Given the description of an element on the screen output the (x, y) to click on. 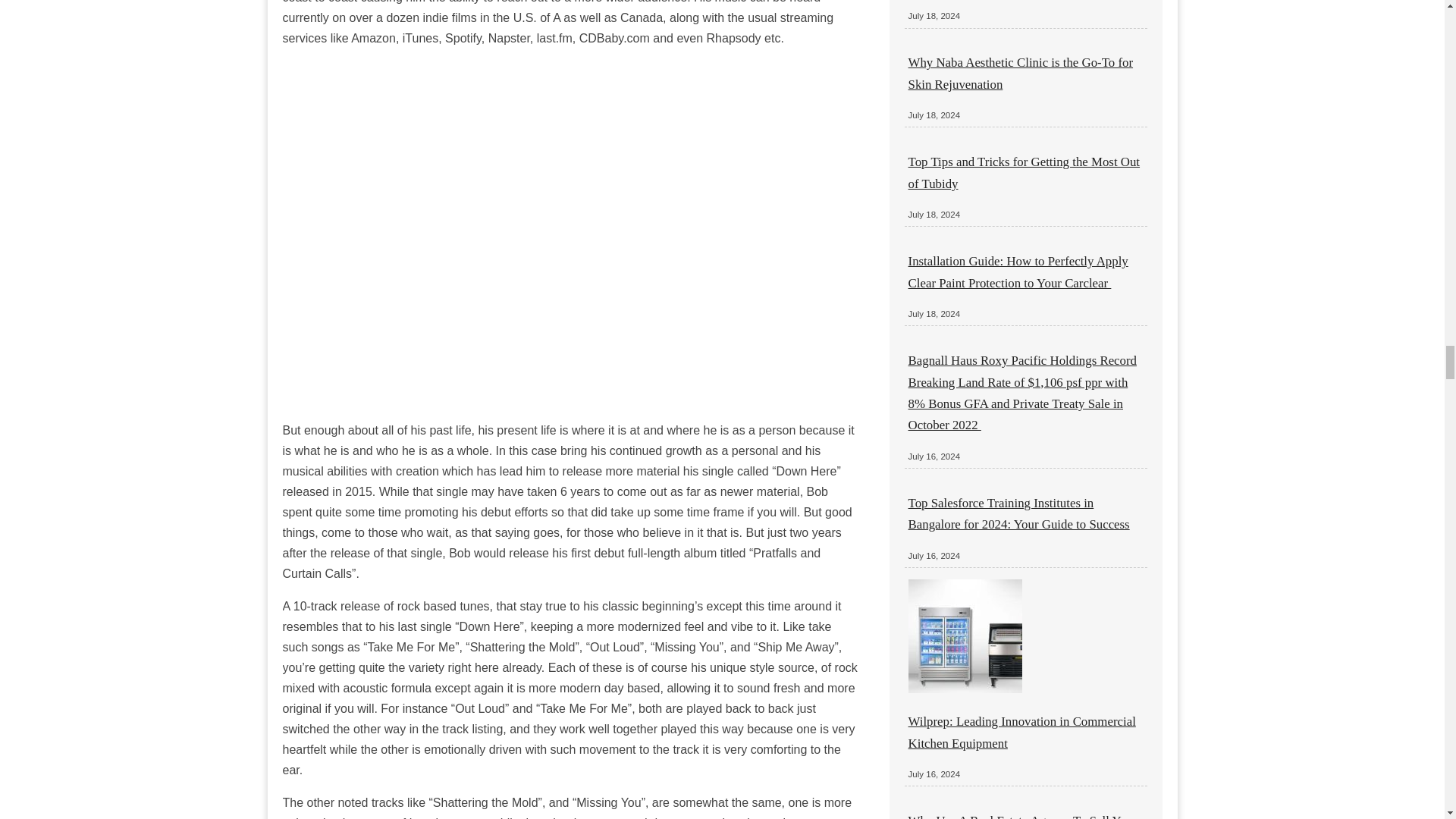
Top Tips and Tricks for Getting the Most Out of Tubidy (1024, 172)
Why Use A Real Estate Agency To Sell Your Property? (1022, 816)
Wilprep: Leading Innovation in Commercial Kitchen Equipment (1021, 732)
Why Naba Aesthetic Clinic is the Go-To for Skin Rejuvenation (1021, 72)
